Given the description of an element on the screen output the (x, y) to click on. 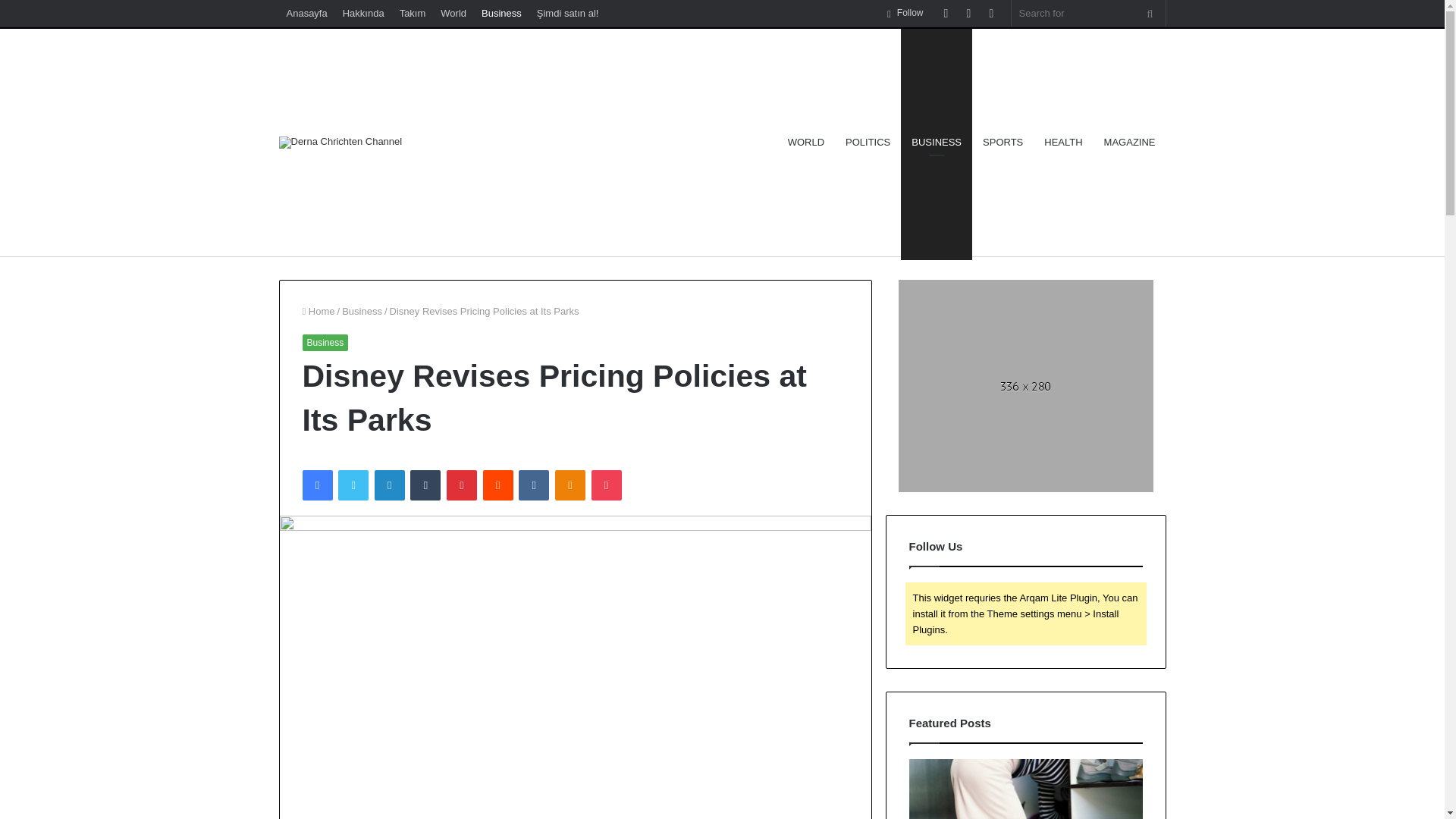
Pocket (606, 485)
Follow (905, 13)
Twitter (352, 485)
Tumblr (425, 485)
VKontakte (533, 485)
Home (317, 310)
Facebook (316, 485)
Reddit (498, 485)
Facebook (316, 485)
Tumblr (425, 485)
